Given the description of an element on the screen output the (x, y) to click on. 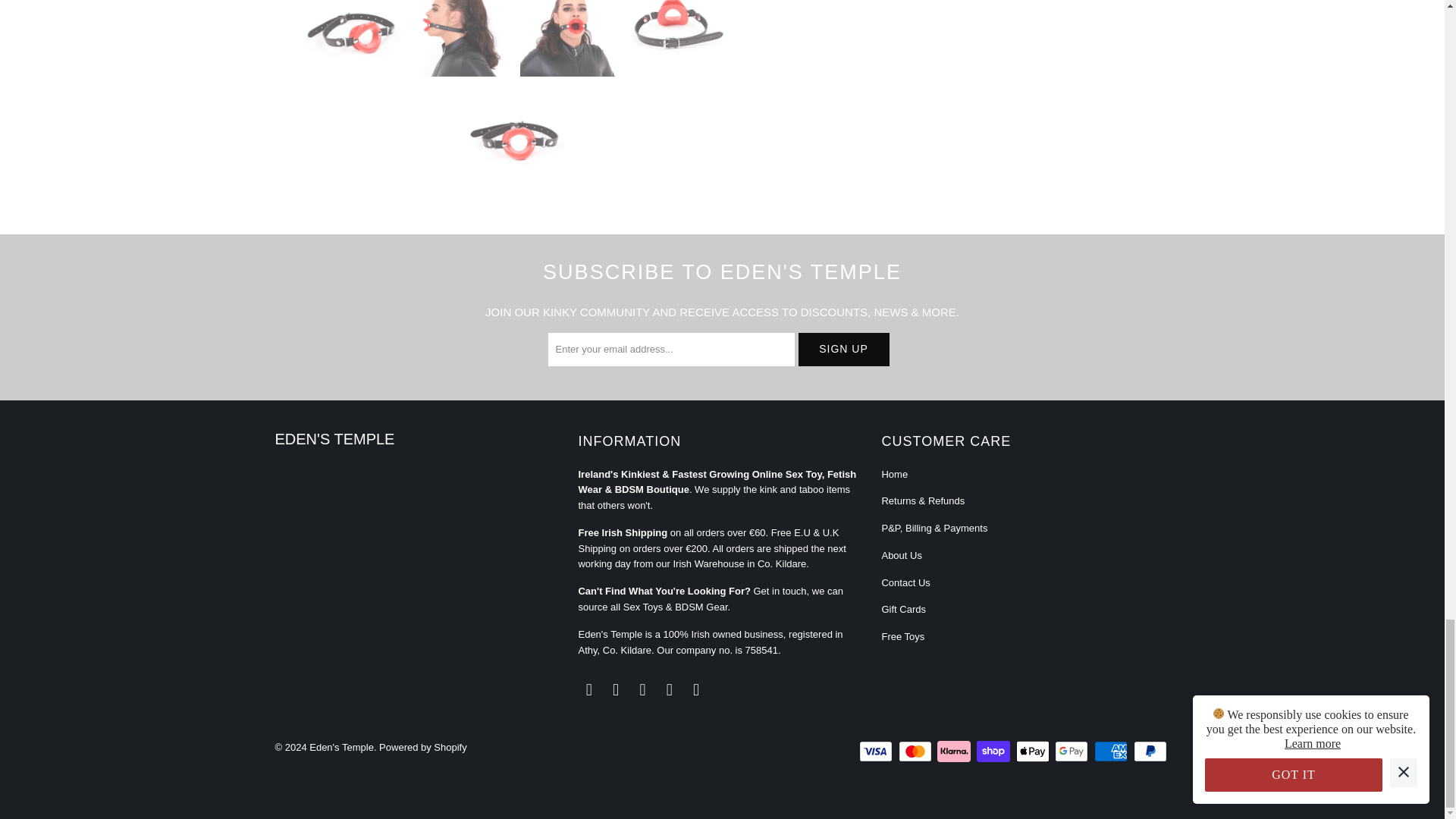
Google Pay (1072, 751)
Shop Pay (994, 751)
Eden's Temple on YouTube (616, 689)
Eden's Temple on Twitter (588, 689)
American Express (1112, 751)
PayPal (1150, 751)
Sign Up (842, 349)
Klarna (955, 751)
Mastercard (916, 751)
Visa (877, 751)
Apple Pay (1034, 751)
